Given the description of an element on the screen output the (x, y) to click on. 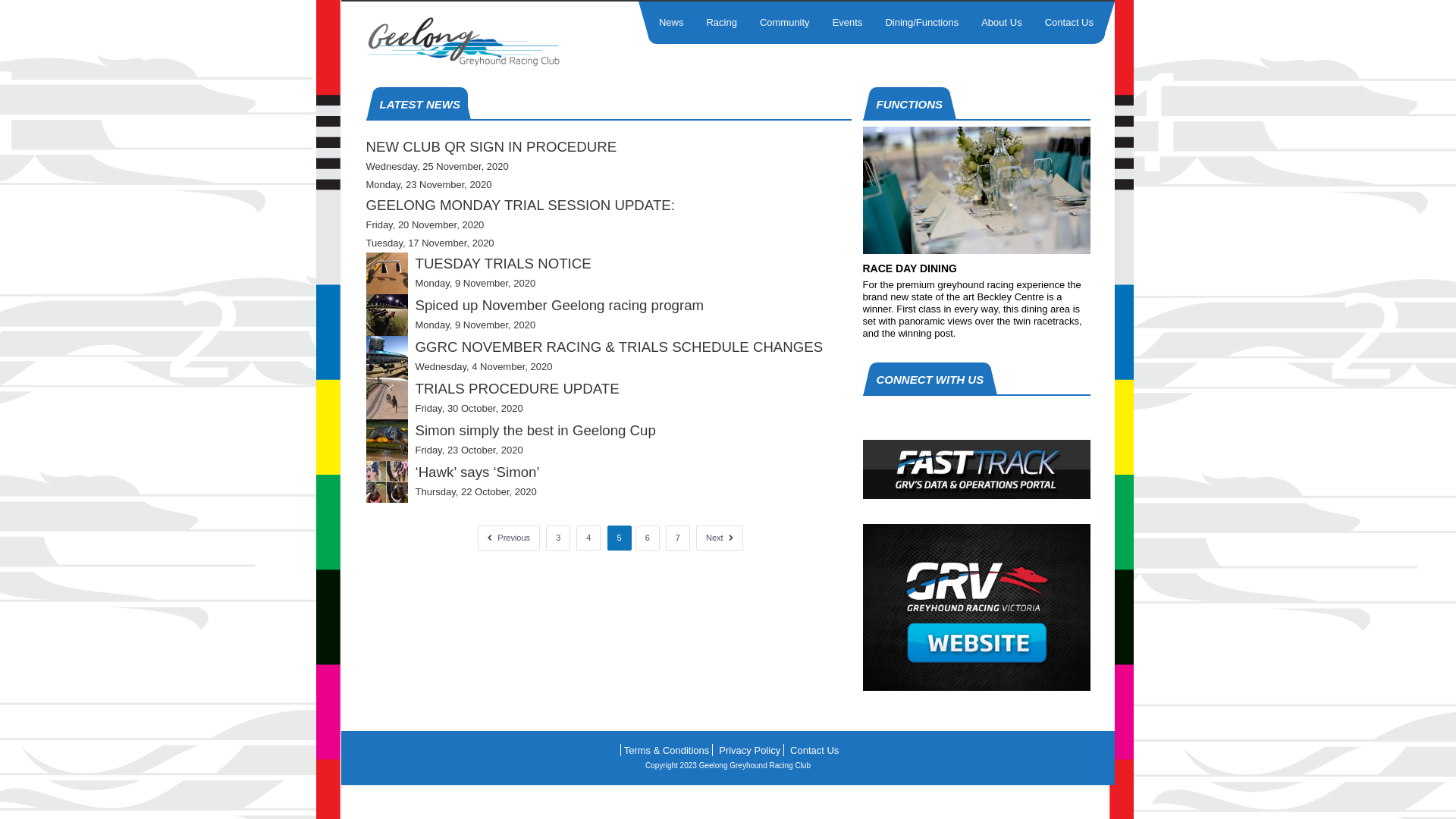
Geelong Greyhound Racing Club Element type: hover (487, 41)
Next Element type: text (719, 537)
Simon simply the best in Geelong Cup Element type: text (535, 430)
  Element type: hover (976, 495)
7 Element type: text (677, 537)
GGRC NOVEMBER RACING & TRIALS SCHEDULE CHANGES Element type: text (619, 346)
3 Element type: text (558, 537)
Previous Element type: text (508, 537)
TUESDAY TRIALS NOTICE Element type: hover (386, 273)
GGRC NOVEMBER RACING & TRIALS SCHEDULE CHANGES Element type: hover (386, 356)
Privacy Policy Element type: text (749, 750)
Dining/Functions Element type: hover (976, 250)
Events Element type: text (847, 22)
4 Element type: text (588, 537)
About Us Element type: text (1000, 22)
  Element type: hover (976, 686)
Dining/Functions Element type: text (921, 22)
TRIALS PROCEDURE UPDATE Element type: hover (386, 398)
News Element type: text (671, 22)
Racing Element type: text (720, 22)
Simon simply the best in Geelong Cup Element type: hover (386, 440)
Contact Us Element type: text (814, 750)
NEW CLUB QR SIGN IN PROCEDURE Element type: text (490, 146)
TRIALS PROCEDURE UPDATE Element type: text (517, 388)
Community Element type: text (784, 22)
6 Element type: text (647, 537)
GEELONG MONDAY TRIAL SESSION UPDATE: Element type: text (519, 205)
Spiced up November Geelong racing program Element type: text (559, 305)
TUESDAY TRIALS NOTICE Element type: text (503, 263)
Spiced up November Geelong racing program Element type: hover (386, 314)
Contact Us Element type: text (1068, 22)
Terms & Conditions Element type: text (666, 750)
